Given the description of an element on the screen output the (x, y) to click on. 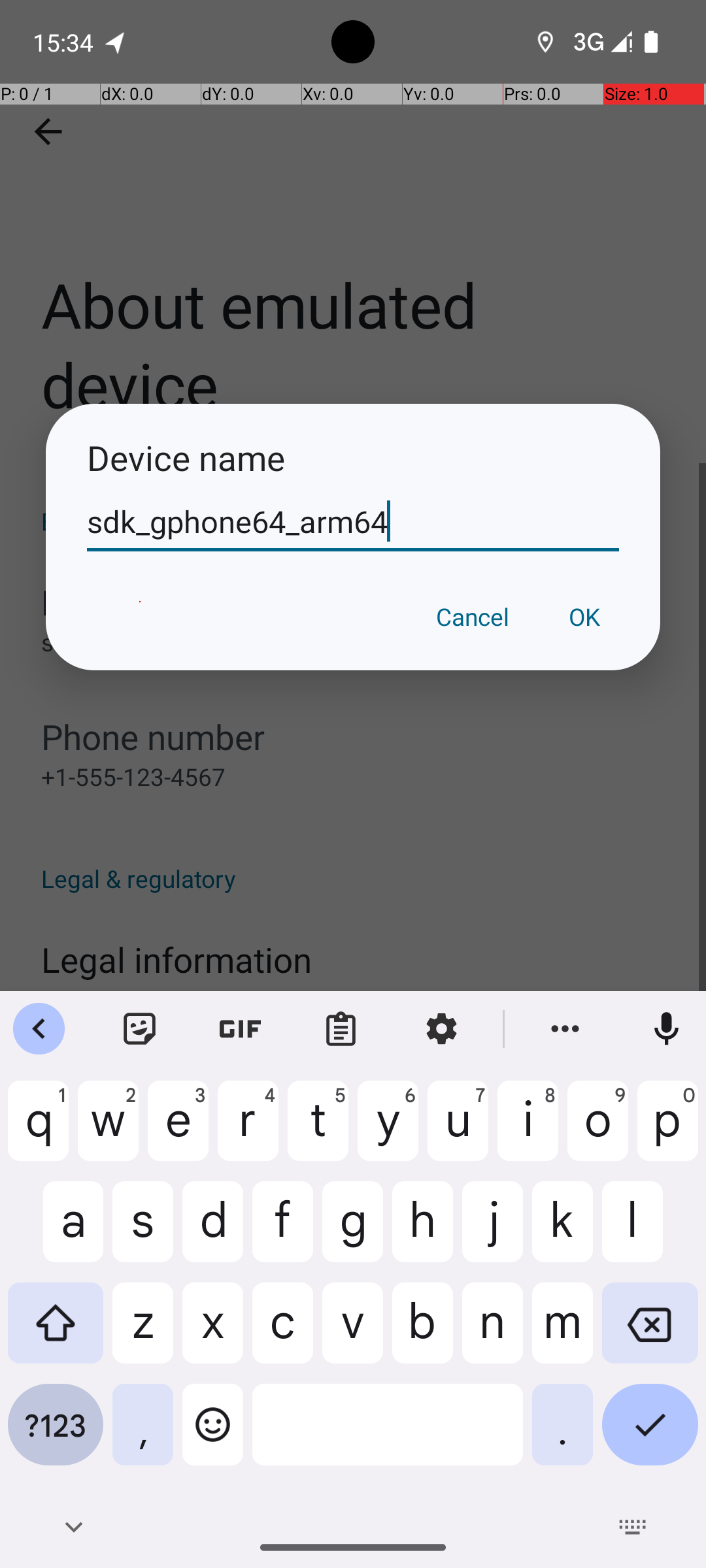
Device name Element type: android.widget.TextView (352, 457)
